Given the description of an element on the screen output the (x, y) to click on. 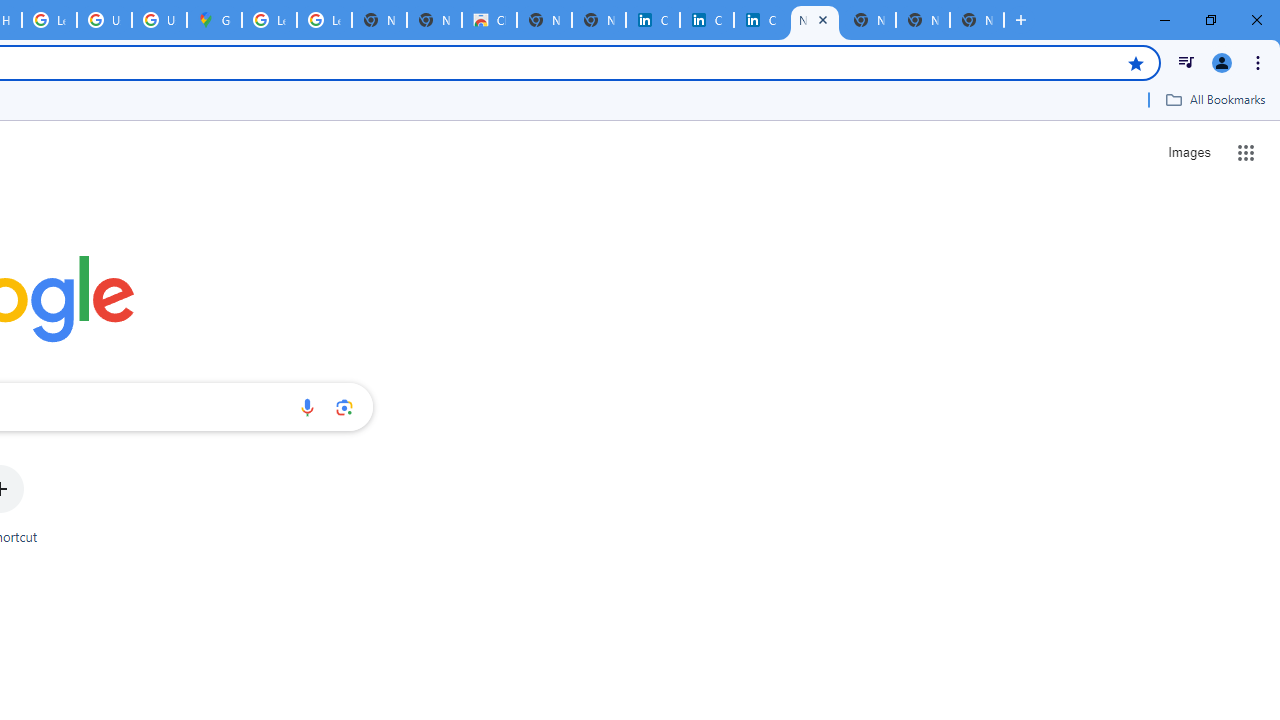
New Tab (976, 20)
Cookie Policy | LinkedIn (652, 20)
Google Maps (213, 20)
Chrome Web Store (489, 20)
